Given the description of an element on the screen output the (x, y) to click on. 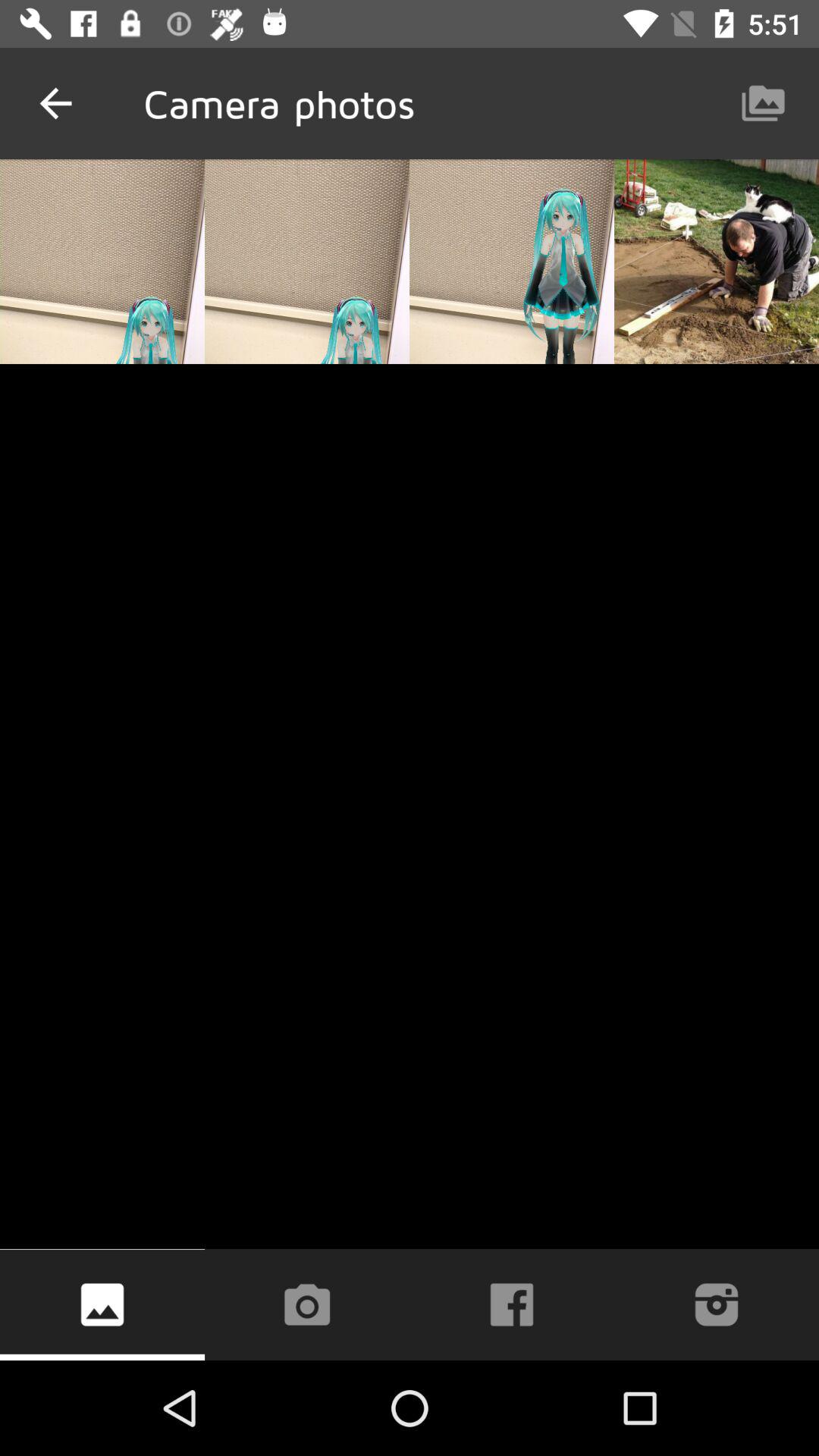
share on facebook (511, 1304)
